Given the description of an element on the screen output the (x, y) to click on. 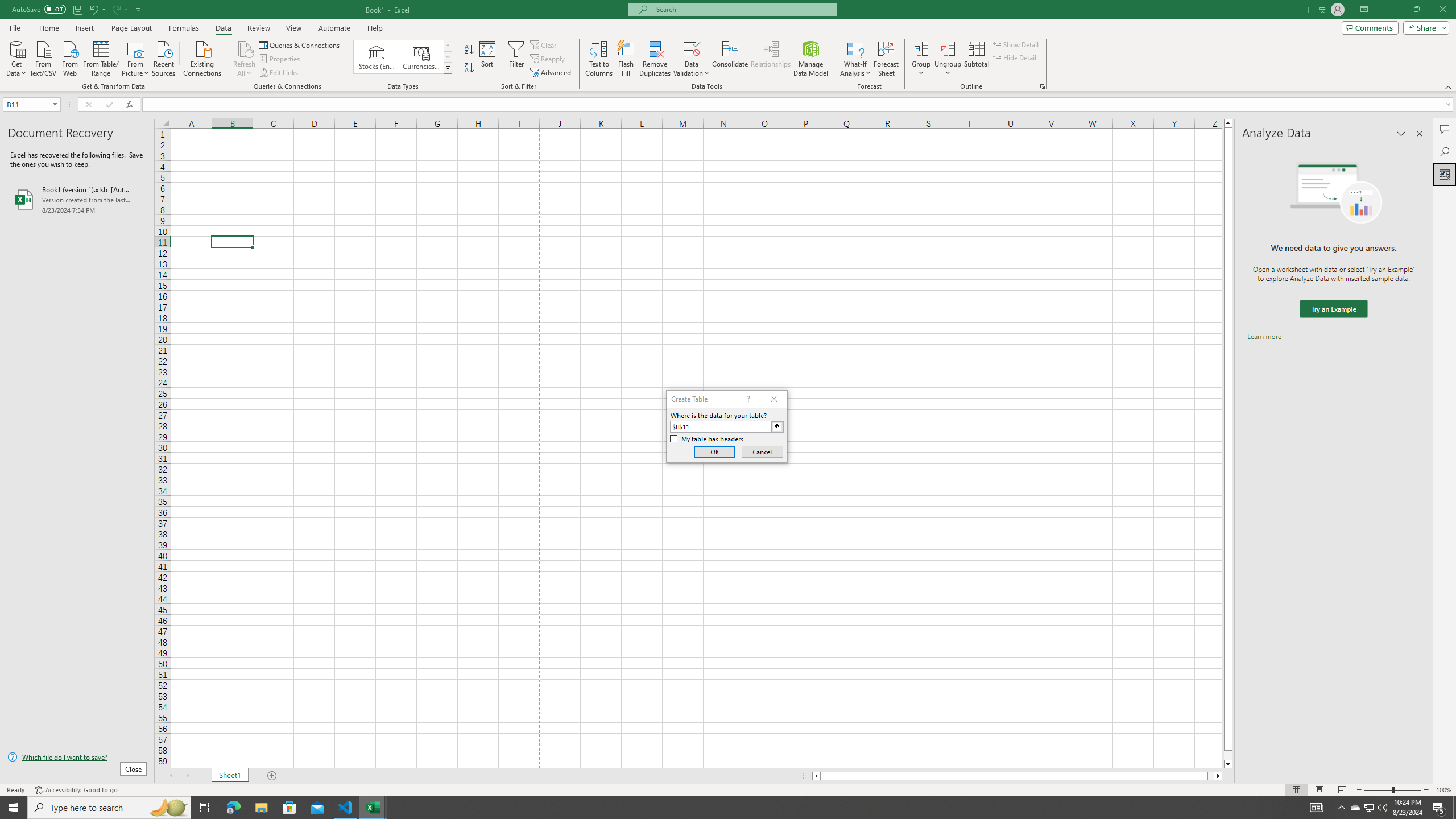
Close (1442, 9)
Row Down (448, 56)
Automate (334, 28)
Text to Columns... (598, 58)
Sort A to Z (469, 49)
Queries & Connections (300, 44)
System (6, 6)
Ungroup... (947, 58)
Customize Quick Access Toolbar (139, 9)
Class: NetUIScrollBar (1016, 775)
Book1 (version 1).xlsb  [AutoRecovered] (77, 199)
Row up (448, 45)
Currencies (English) (420, 56)
Scroll Left (171, 775)
